Given the description of an element on the screen output the (x, y) to click on. 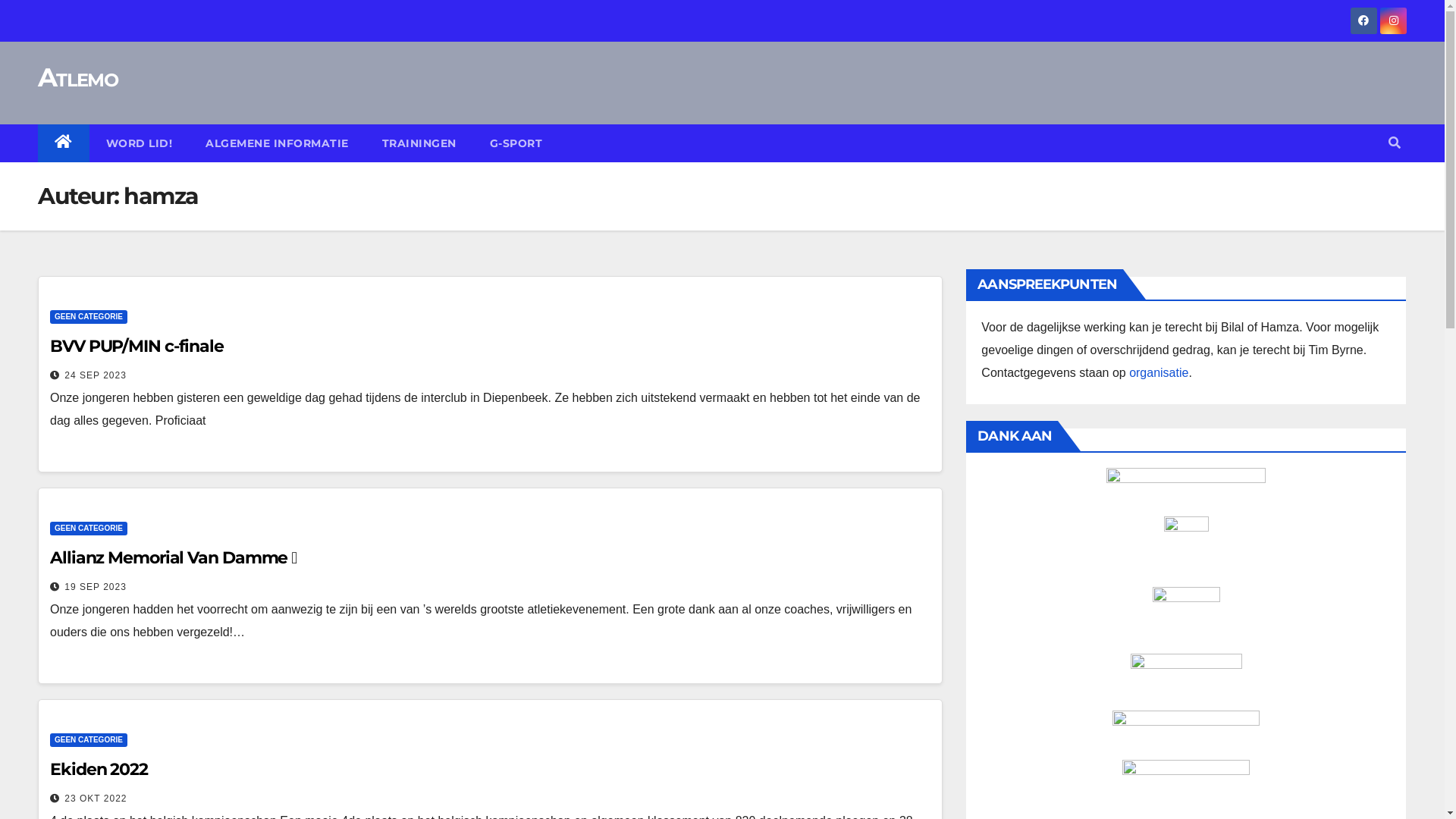
24 SEP 2023 Element type: text (95, 375)
GEEN CATEGORIE Element type: text (88, 316)
WORD LID! Element type: text (139, 143)
organisatie Element type: text (1158, 372)
BVV PUP/MIN c-finale Element type: text (136, 345)
ALGEMENE INFORMATIE Element type: text (276, 143)
TRAININGEN Element type: text (419, 143)
GEEN CATEGORIE Element type: text (88, 528)
GEEN CATEGORIE Element type: text (88, 739)
23 OKT 2022 Element type: text (95, 798)
Ekiden 2022 Element type: text (98, 769)
Atlemo Element type: text (77, 77)
G-SPORT Element type: text (516, 143)
19 SEP 2023 Element type: text (95, 586)
